Given the description of an element on the screen output the (x, y) to click on. 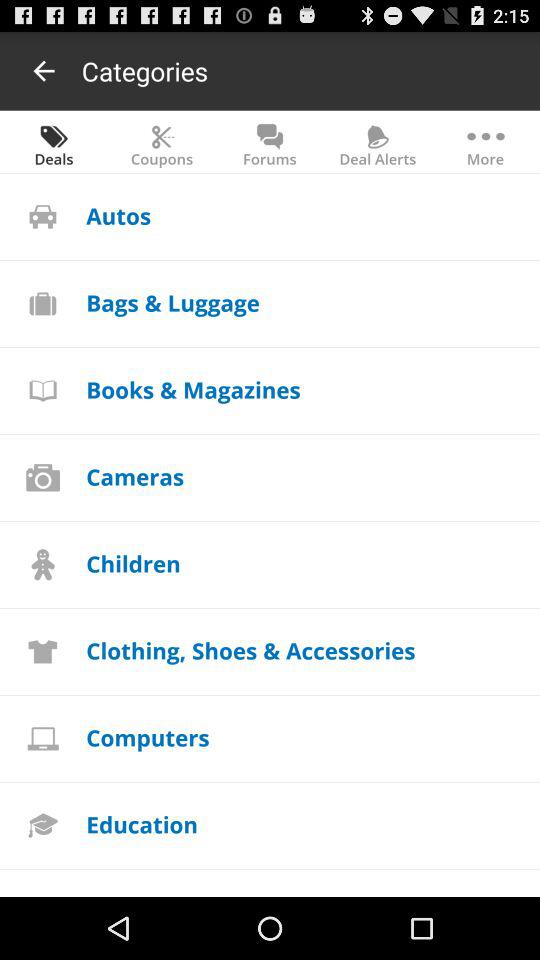
it gives to goto previous menus (44, 70)
